Given the description of an element on the screen output the (x, y) to click on. 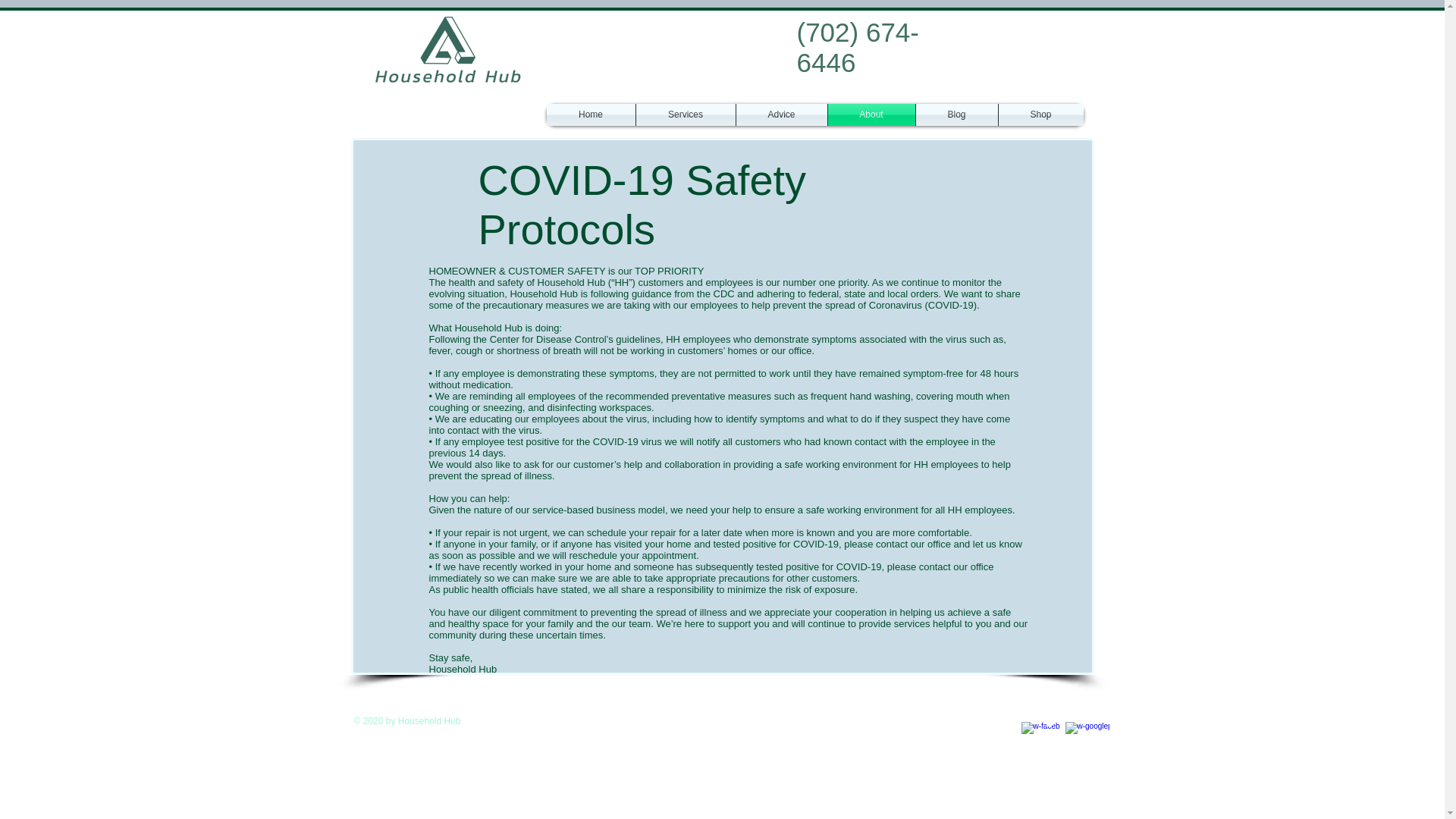
Services (684, 115)
Advice (781, 115)
Home (590, 115)
Shop (1040, 115)
Blog (956, 115)
About (871, 115)
